Given the description of an element on the screen output the (x, y) to click on. 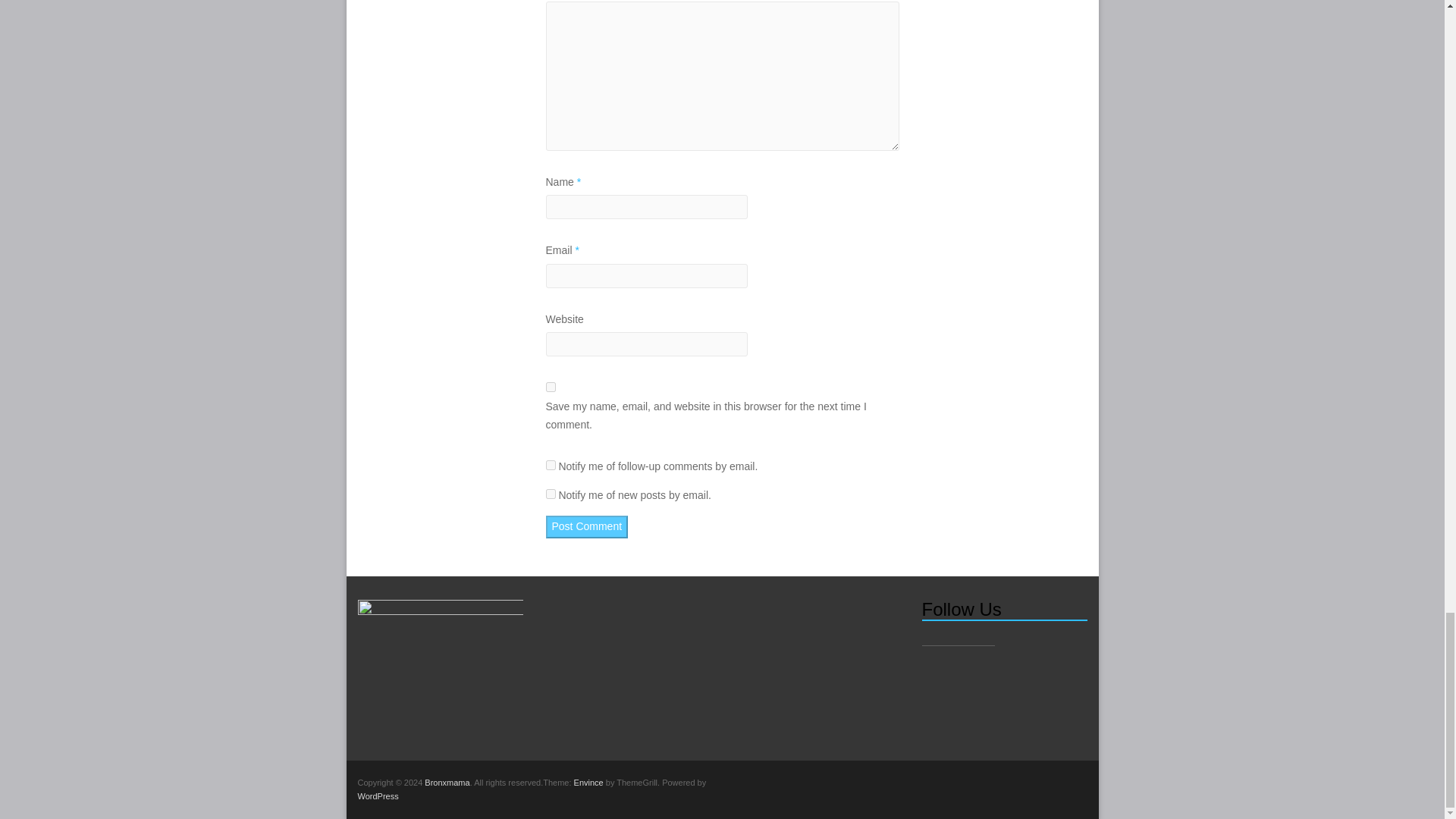
subscribe (551, 493)
subscribe (551, 465)
Post Comment (587, 526)
yes (551, 387)
